Given the description of an element on the screen output the (x, y) to click on. 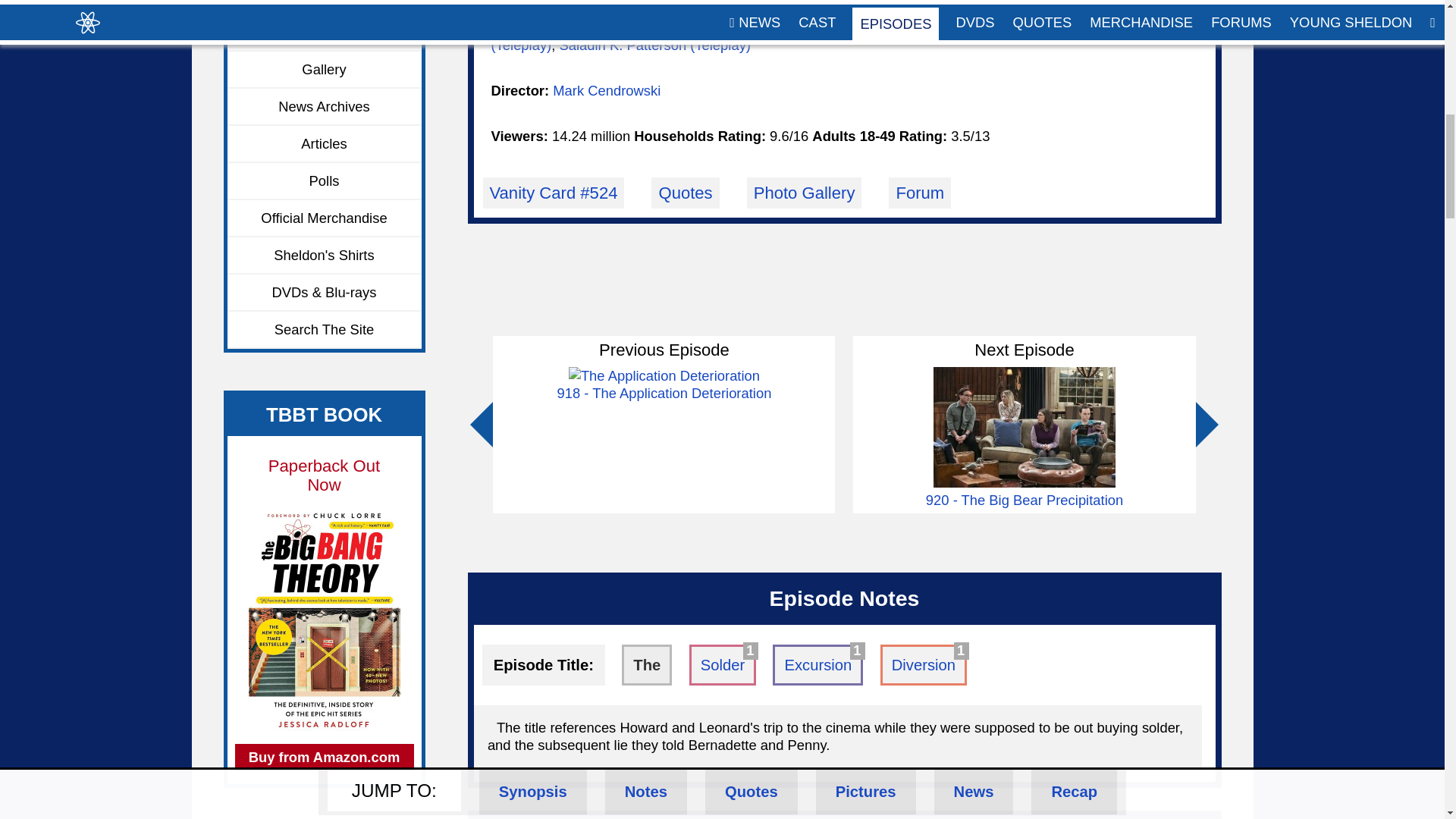
Young Sheldon (324, 32)
Official Merchandise (324, 218)
Sheldon's Shirts (324, 255)
Polls (324, 180)
Excursion (817, 664)
Solder (722, 664)
Diversion (923, 664)
Articles (324, 144)
Crew (324, 7)
TBBT BOOK (323, 414)
News Archives (324, 107)
Search The Site (324, 330)
Gallery (324, 69)
Buy from Amazon.com (323, 756)
